Given the description of an element on the screen output the (x, y) to click on. 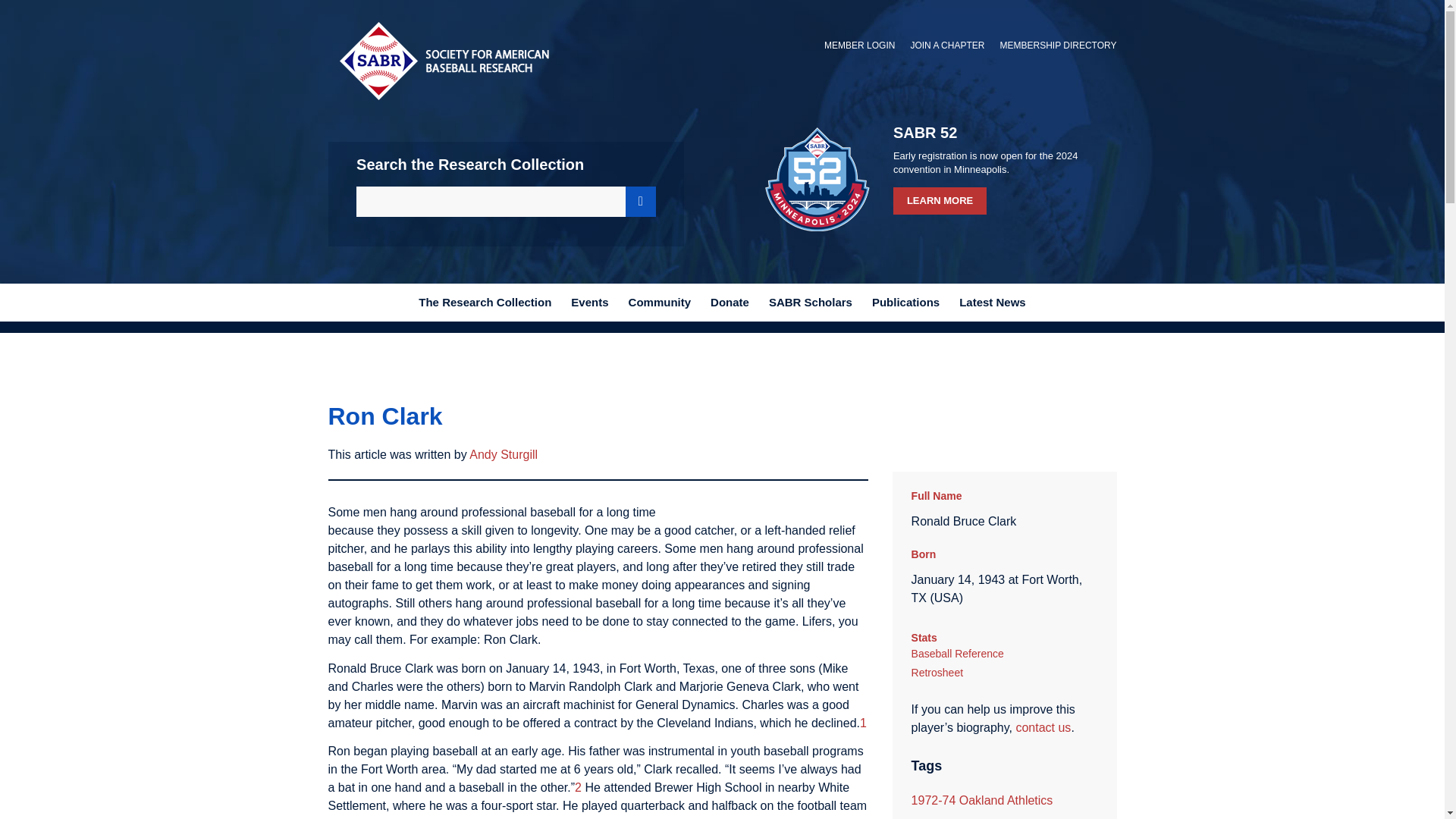
LEARN MORE (940, 200)
SABR Scholars (809, 302)
MEMBER LOGIN (859, 45)
Community (659, 302)
JOIN A CHAPTER (947, 45)
Latest News (992, 302)
The Research Collection (484, 302)
Publications (905, 302)
Donate (729, 302)
Events (588, 302)
